Given the description of an element on the screen output the (x, y) to click on. 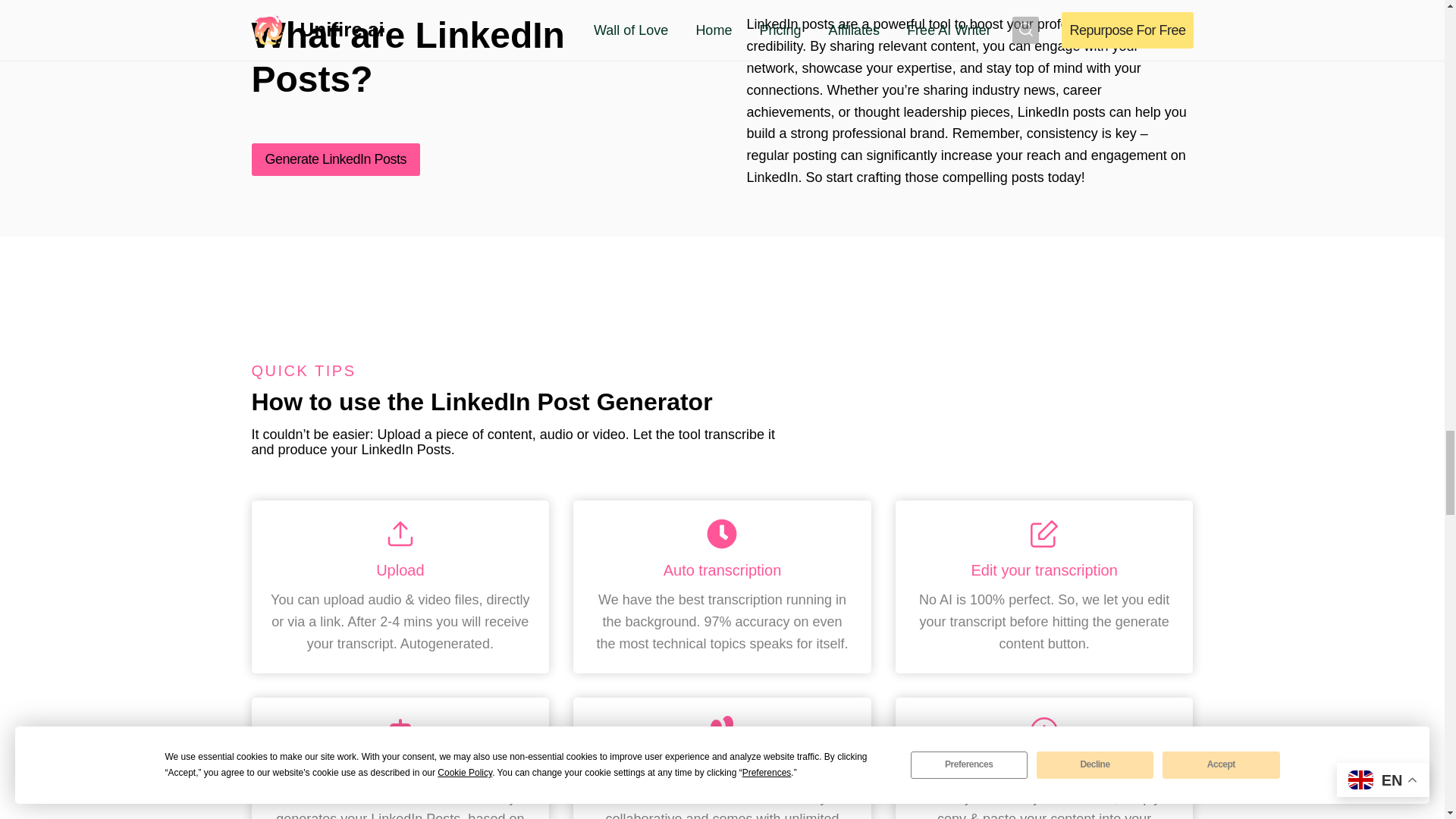
Generate LinkedIn Posts (335, 159)
